Given the description of an element on the screen output the (x, y) to click on. 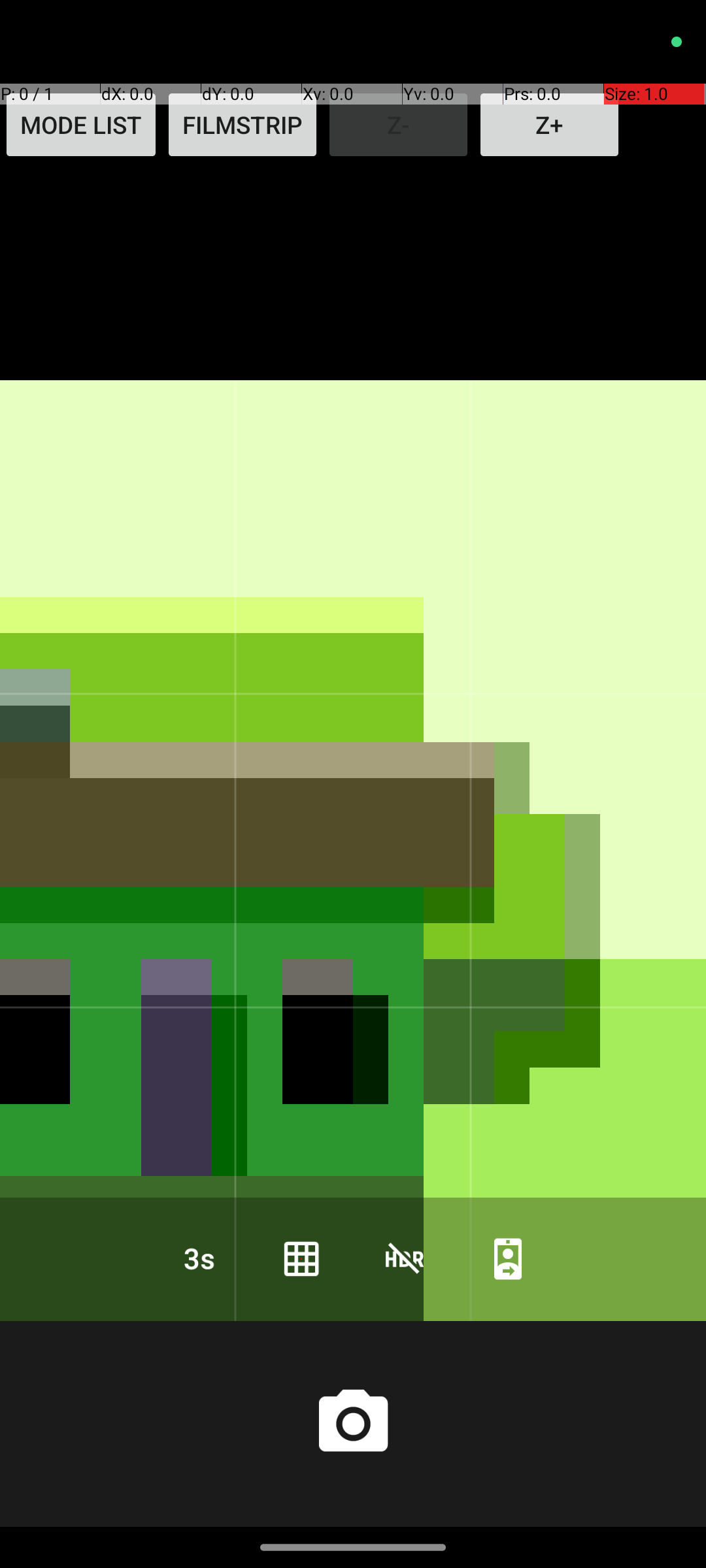
Countdown timer duration is set to 3 seconds Element type: android.widget.ImageButton (197, 1258)
Grid lines on Element type: android.widget.ImageButton (301, 1258)
HDR off Element type: android.widget.ImageButton (404, 1258)
Front camera Element type: android.widget.ImageButton (507, 1258)
